Given the description of an element on the screen output the (x, y) to click on. 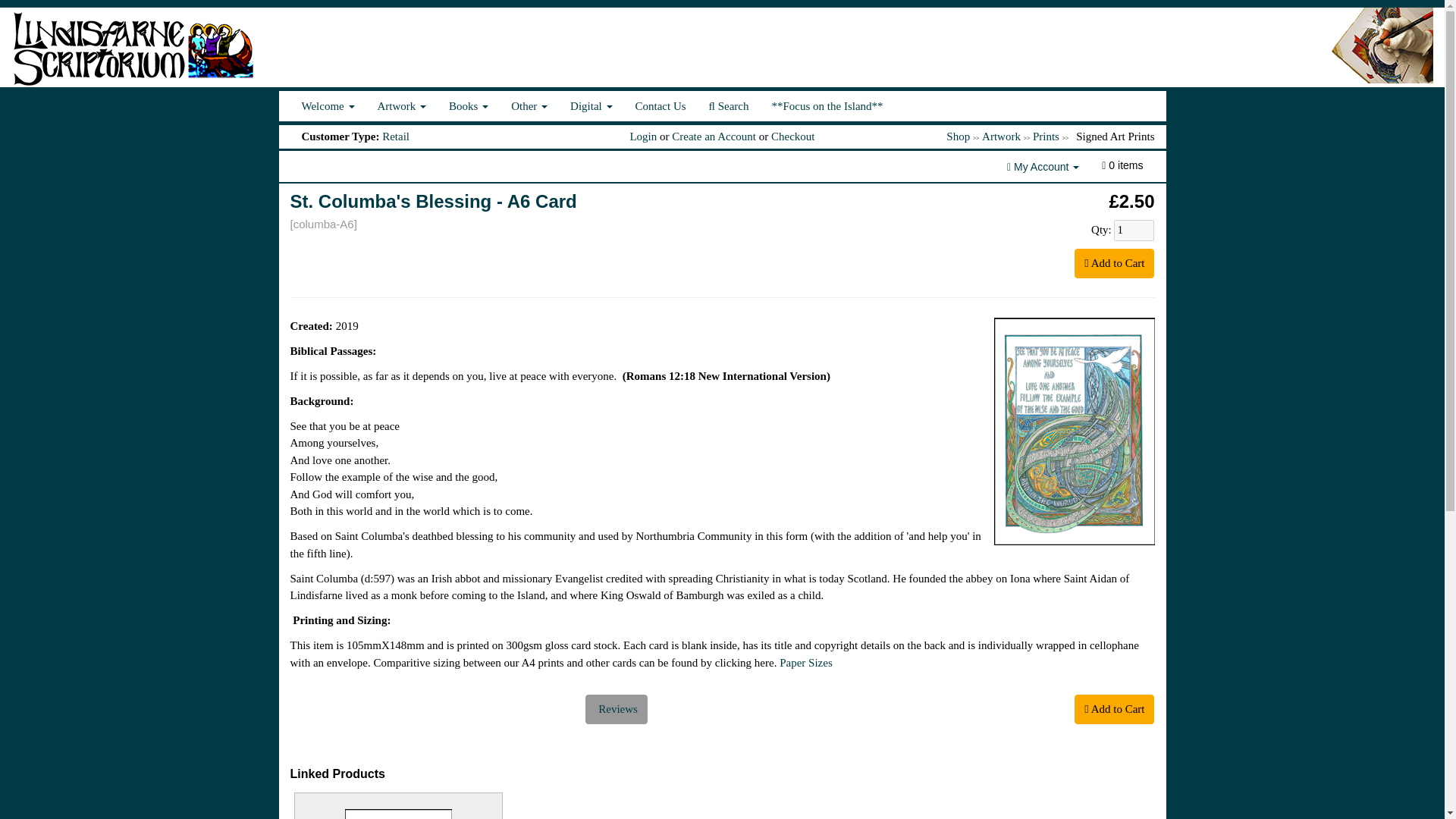
Artwork (402, 105)
Welcome (327, 105)
1 (1133, 230)
St. Columba's Blessing - A4 Print (397, 814)
Books (468, 105)
